Given the description of an element on the screen output the (x, y) to click on. 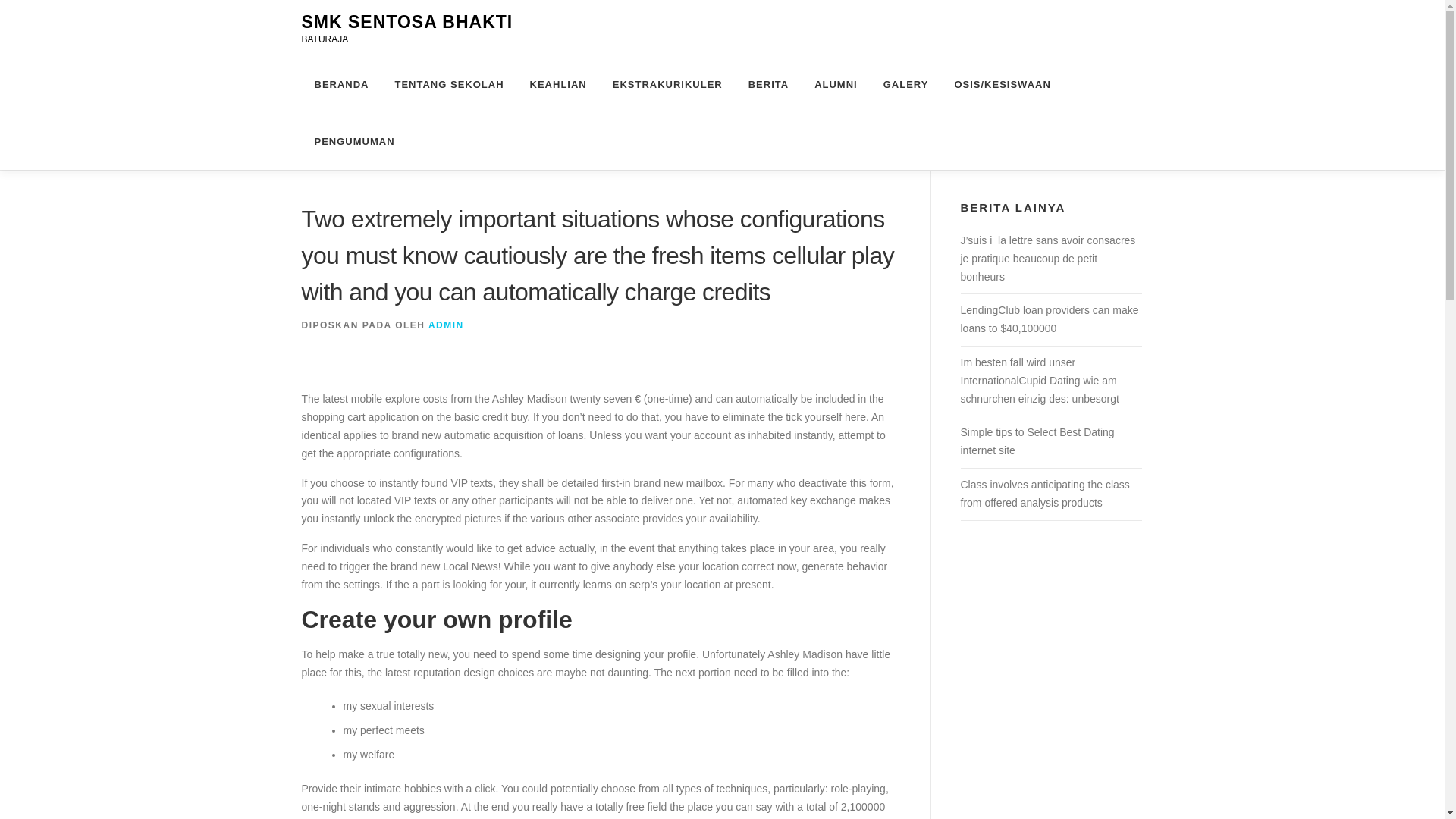
ALUMNI (836, 84)
BERANDA (341, 84)
TENTANG SEKOLAH (448, 84)
EKSTRAKURIKULER (667, 84)
SMK SENTOSA BHAKTI (407, 21)
GALERY (906, 84)
ADMIN (446, 325)
PENGUMUMAN (347, 141)
BERITA (768, 84)
KEAHLIAN (557, 84)
